Given the description of an element on the screen output the (x, y) to click on. 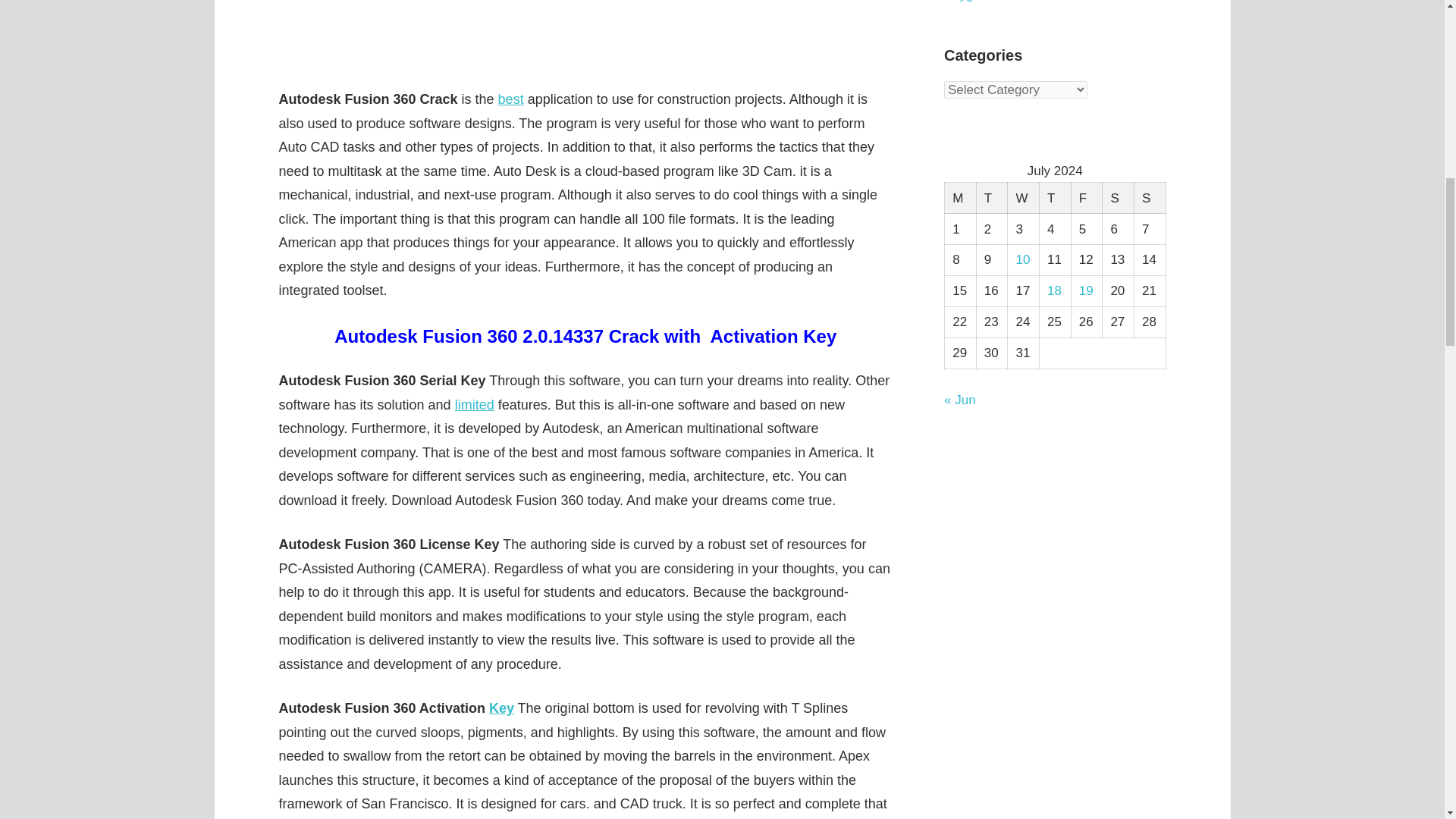
Key (501, 708)
best (510, 99)
limited (474, 404)
